Given the description of an element on the screen output the (x, y) to click on. 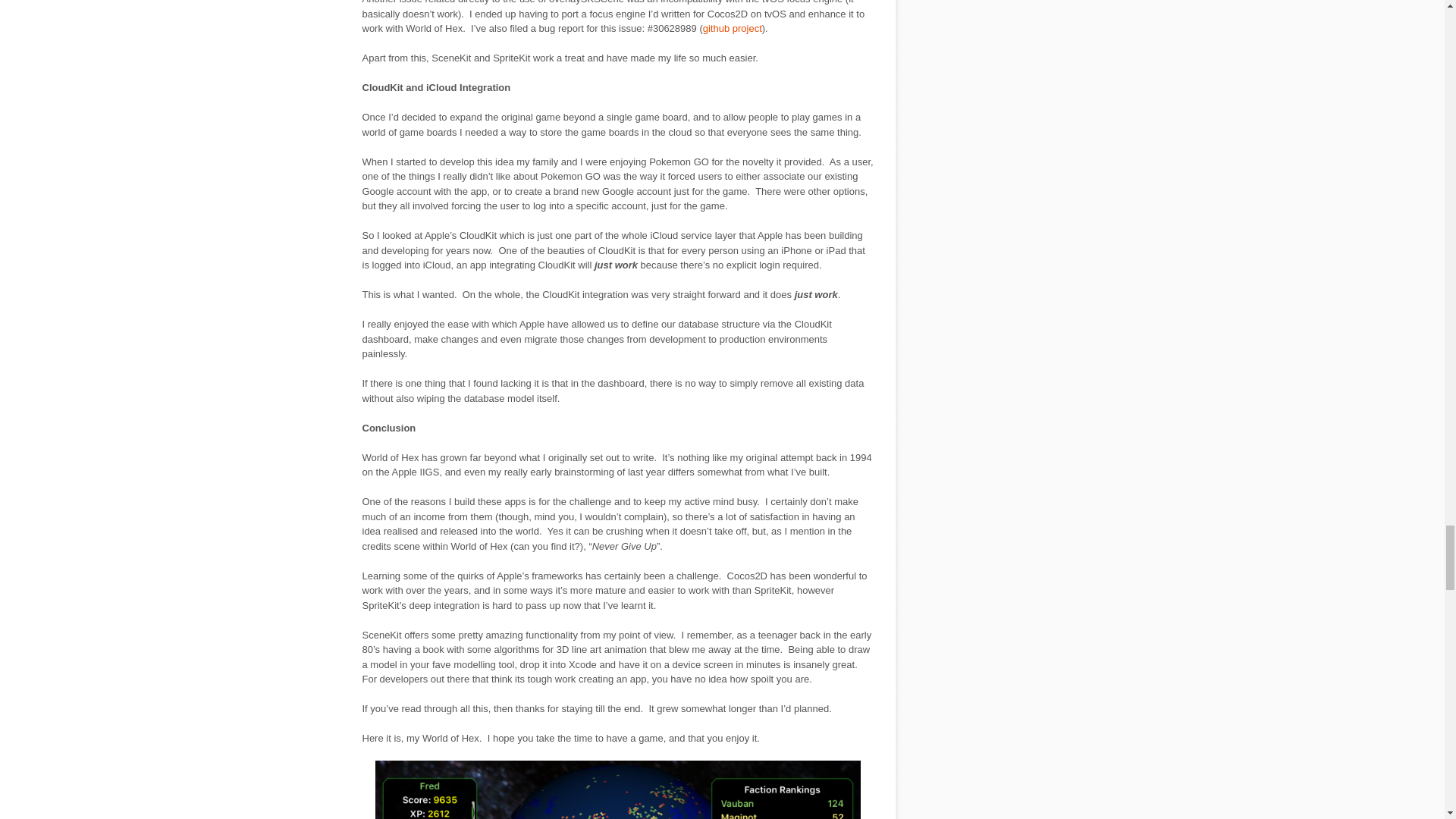
github project (732, 28)
